Given the description of an element on the screen output the (x, y) to click on. 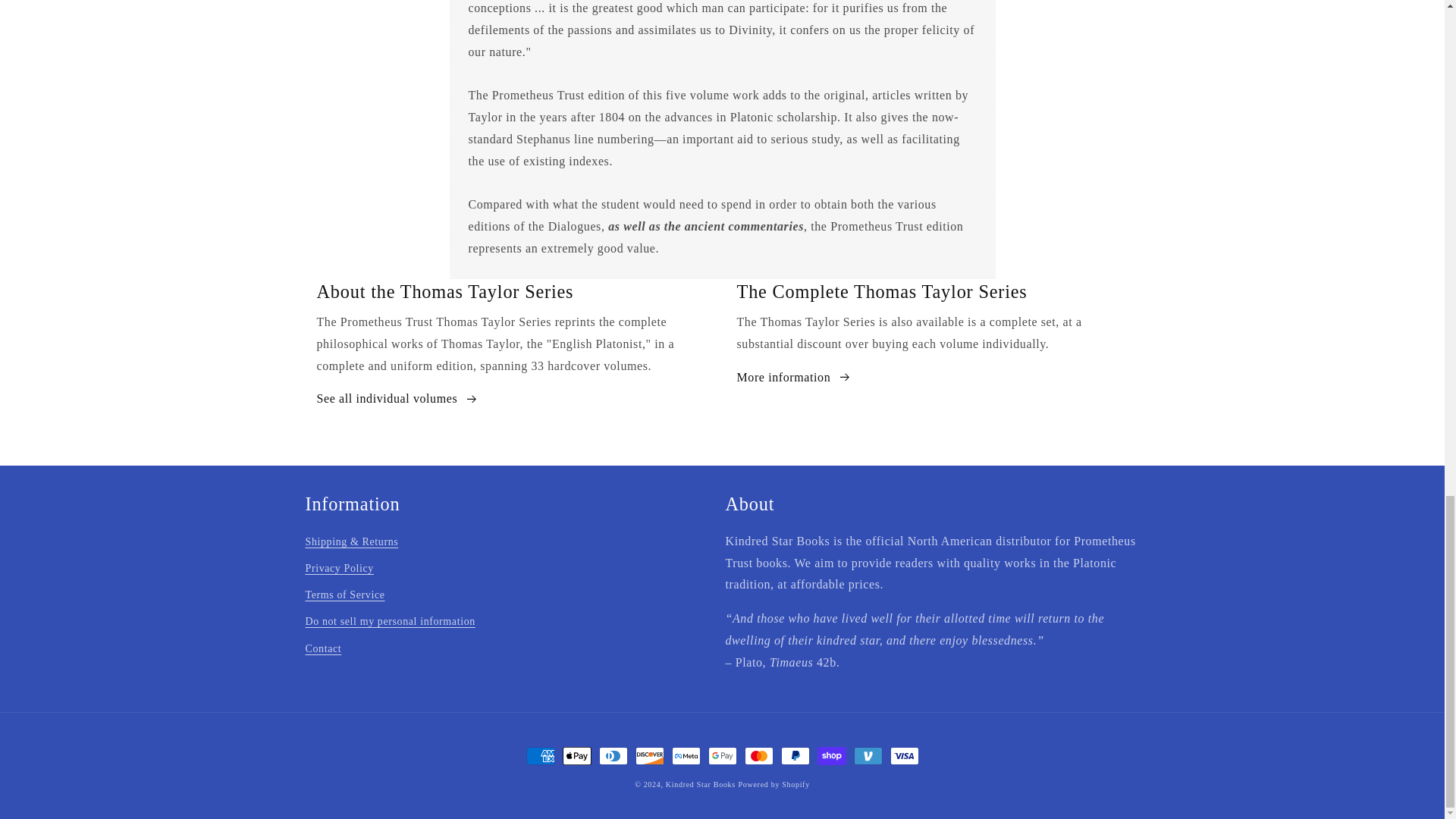
See all individual volumes  (398, 399)
More information  (793, 377)
Terms of Service (344, 594)
Privacy Policy (338, 568)
